Given the description of an element on the screen output the (x, y) to click on. 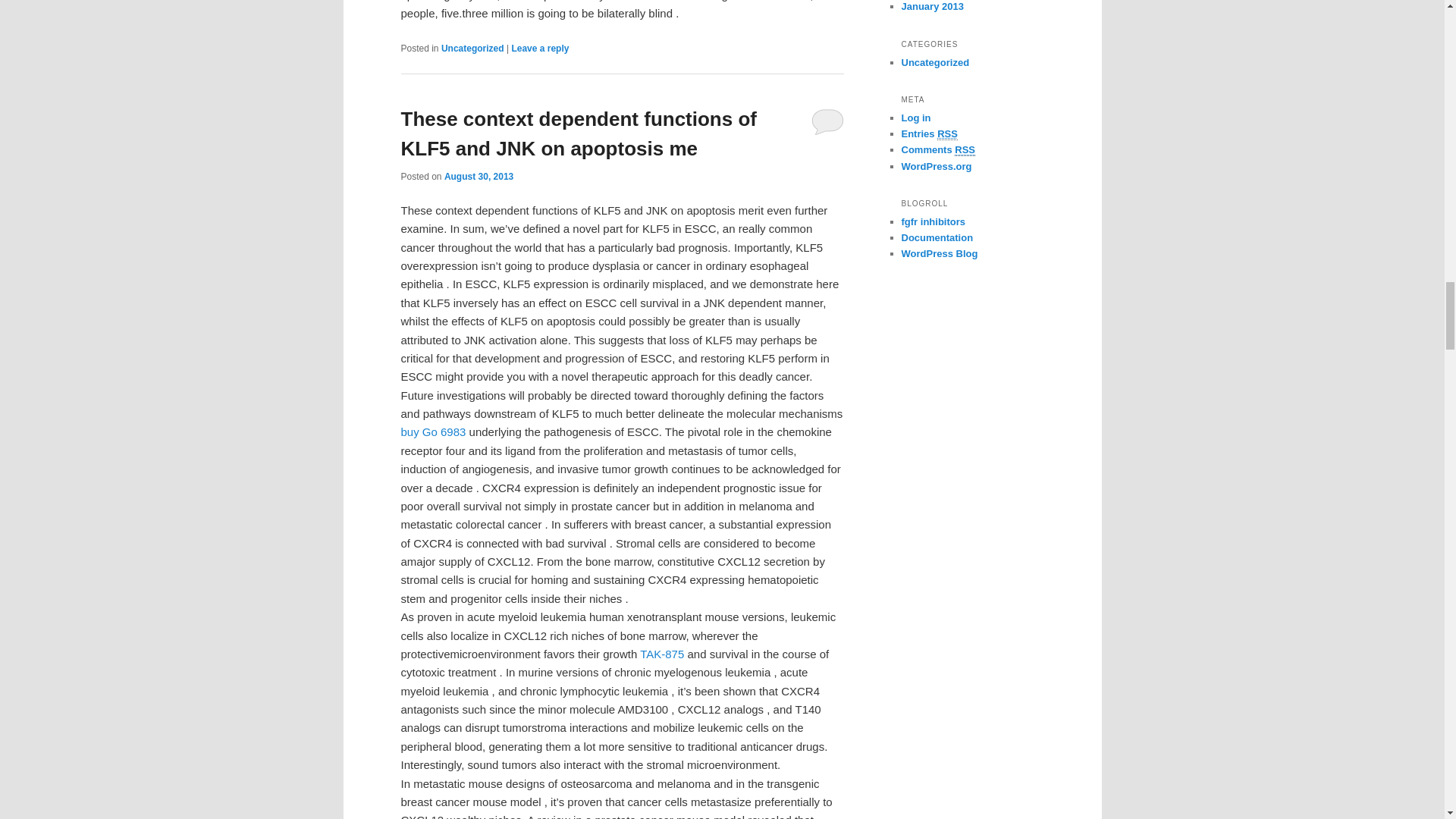
Leave a reply (540, 48)
August 30, 2013 (478, 176)
Uncategorized (472, 48)
